Given the description of an element on the screen output the (x, y) to click on. 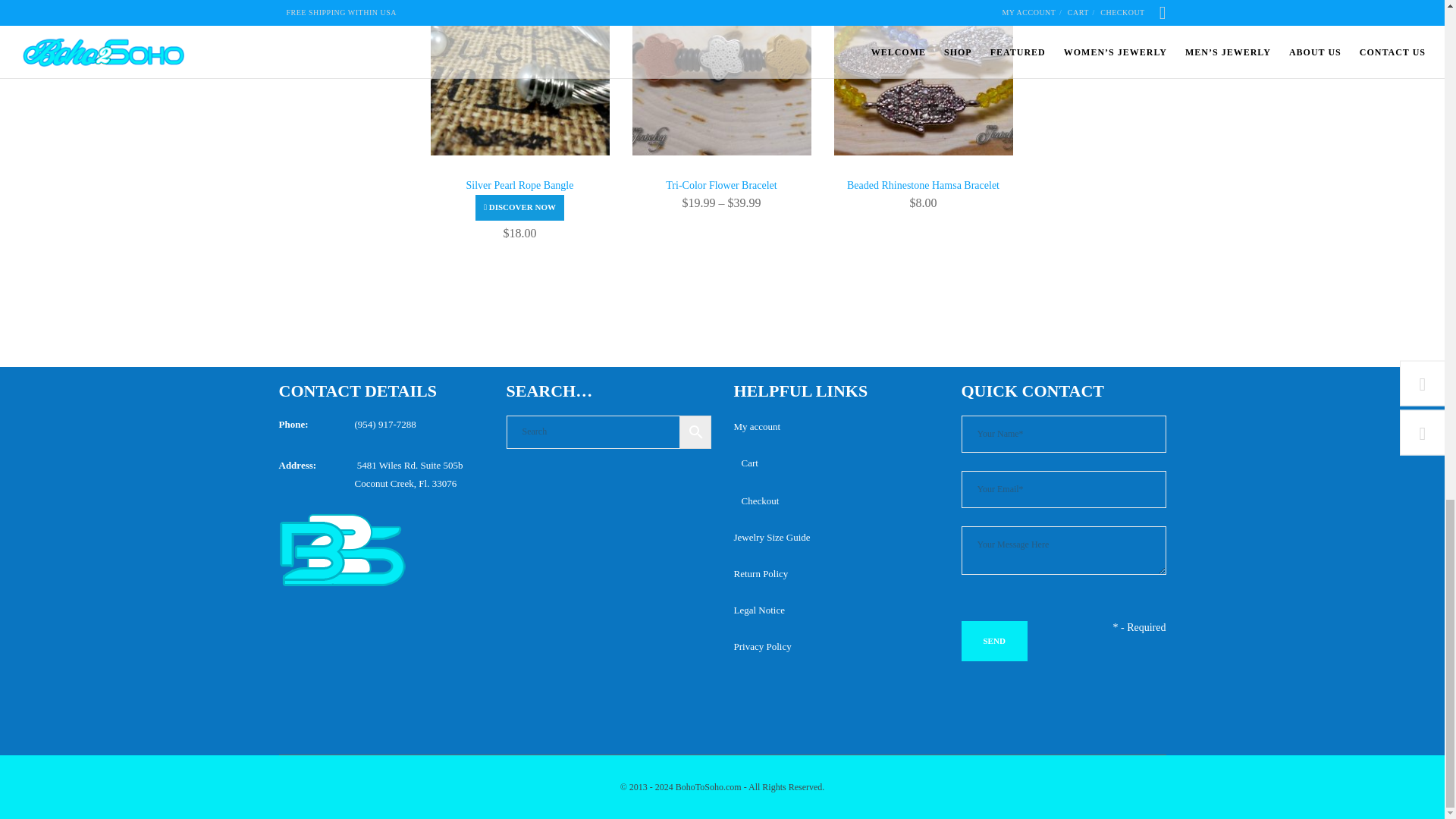
Tri-Color Flower Bracelet (720, 185)
DISCOVER NOW (520, 207)
Quick View (520, 207)
Silver Pearl Rope Bangle (520, 191)
Send (993, 640)
